Given the description of an element on the screen output the (x, y) to click on. 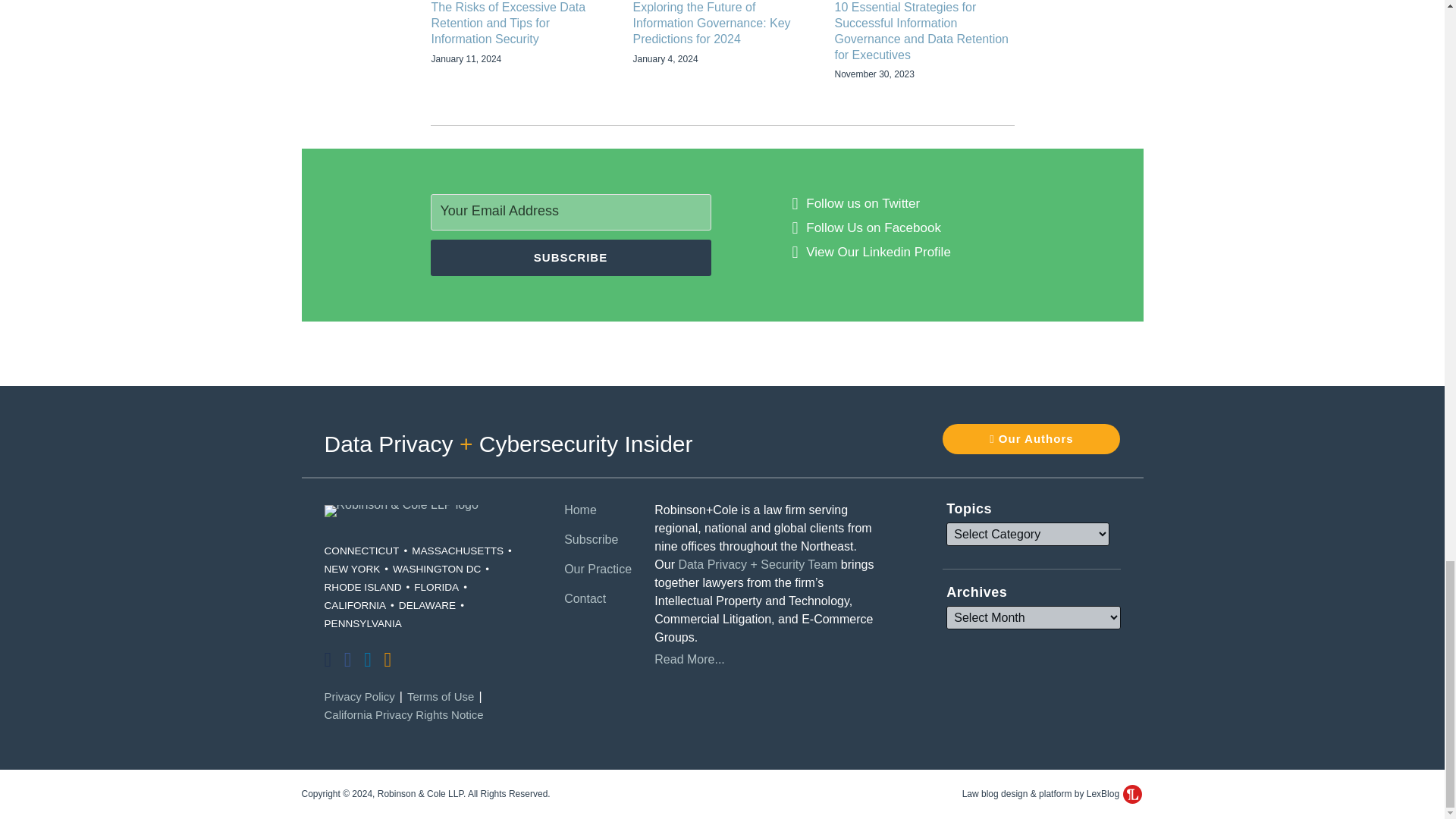
Follow Us on Facebook (873, 228)
Follow us on Twitter (863, 203)
LexBlog Logo (1131, 793)
Subscribe (570, 257)
Subscribe (570, 257)
View Our Linkedin Profile (878, 252)
